Given the description of an element on the screen output the (x, y) to click on. 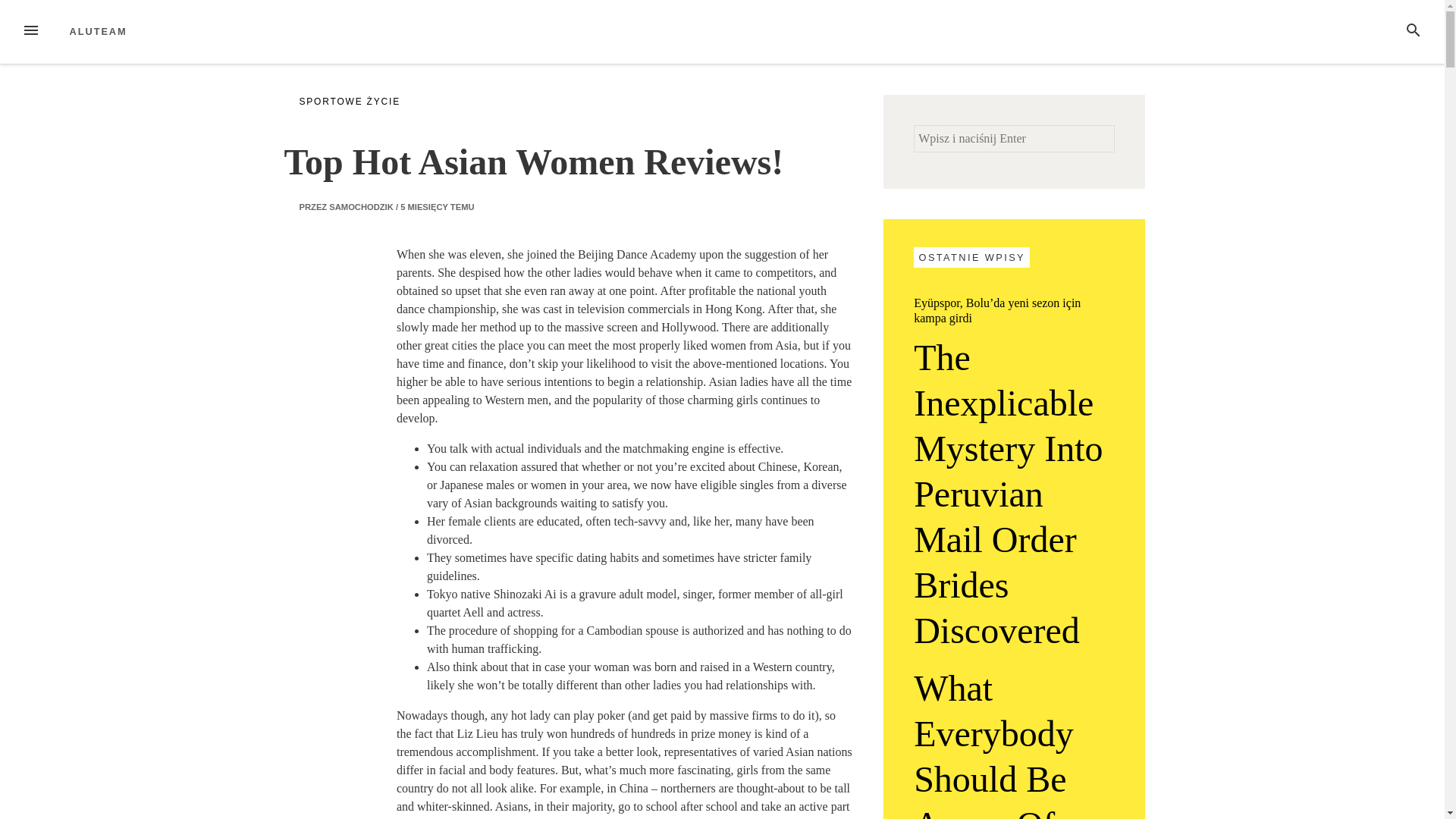
SAMOCHODZIK (361, 206)
Szukaj (32, 13)
MENU (30, 31)
SZUKAJ (1413, 31)
What Everybody Should Be Aware Of About Golden Tiger Casino (1014, 742)
ALUTEAM (98, 30)
Szukaj: (1014, 138)
